Given the description of an element on the screen output the (x, y) to click on. 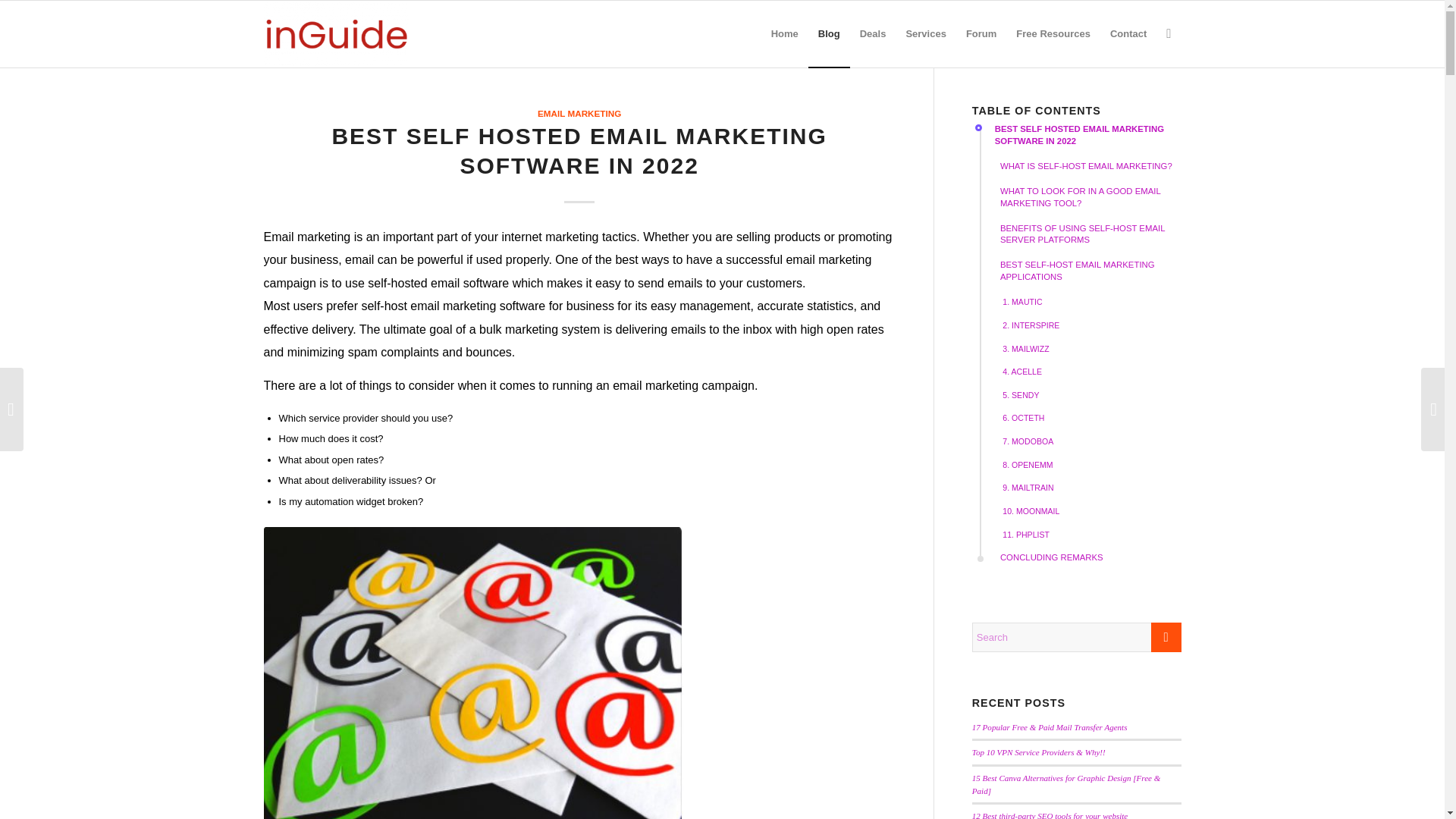
Free Resources (1053, 33)
Services (925, 33)
EMAIL MARKETING (579, 112)
